Given the description of an element on the screen output the (x, y) to click on. 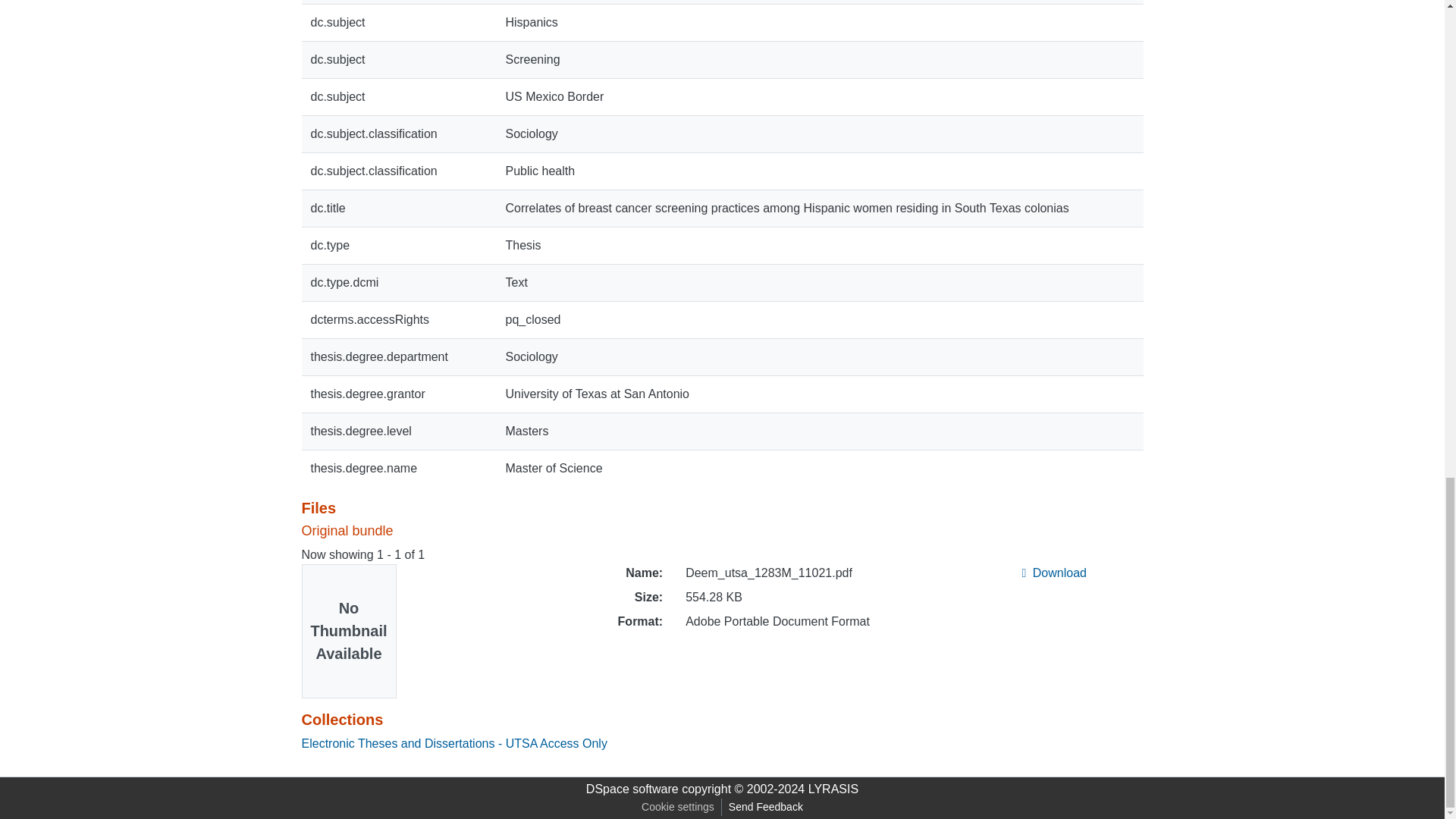
Send Feedback (765, 806)
LYRASIS (833, 788)
Download (1054, 572)
Cookie settings (677, 806)
Electronic Theses and Dissertations - UTSA Access Only (454, 743)
DSpace software (632, 788)
